Given the description of an element on the screen output the (x, y) to click on. 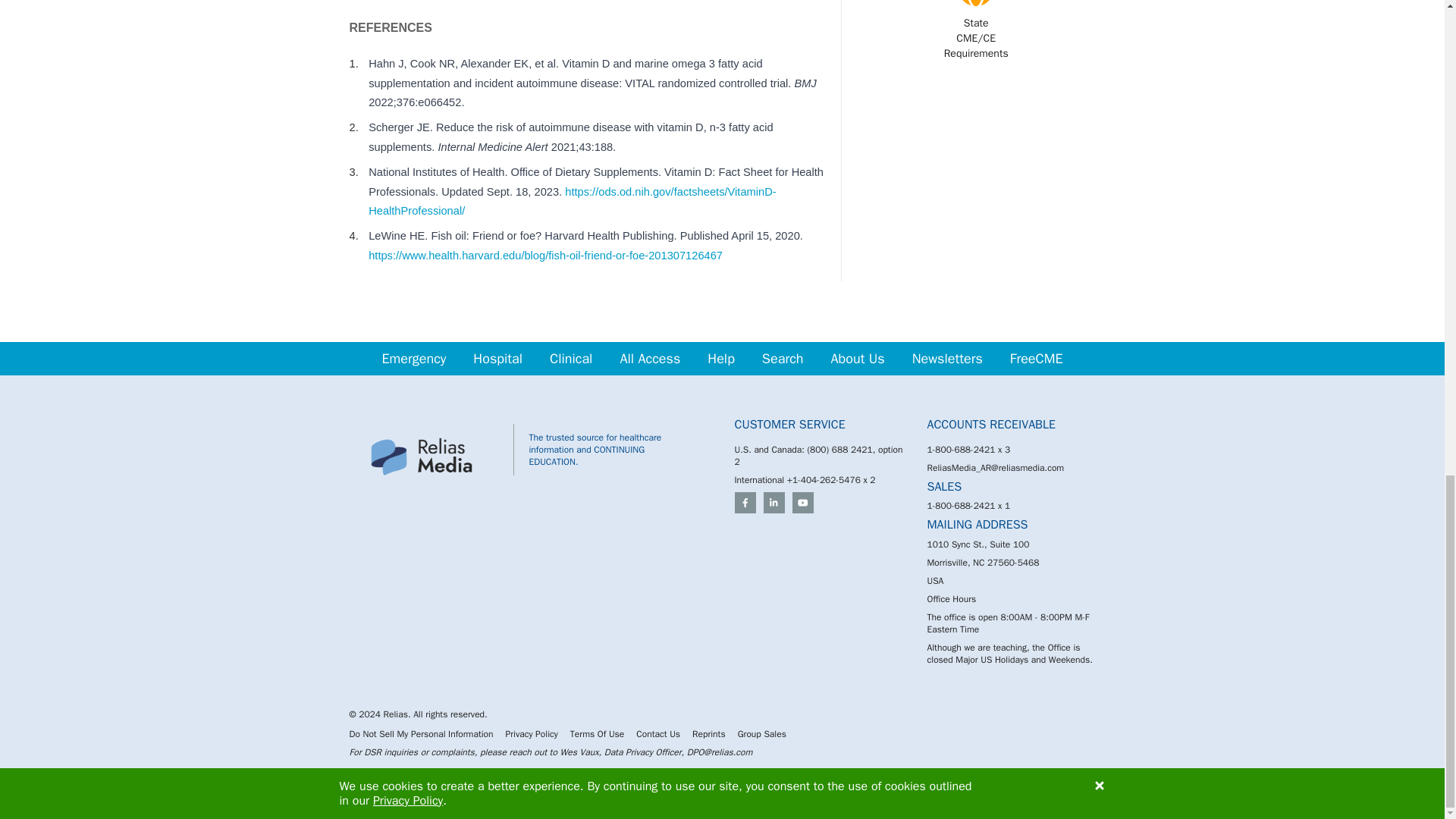
YouTube (802, 502)
LinkedIn (773, 502)
Facebook (744, 502)
